Given the description of an element on the screen output the (x, y) to click on. 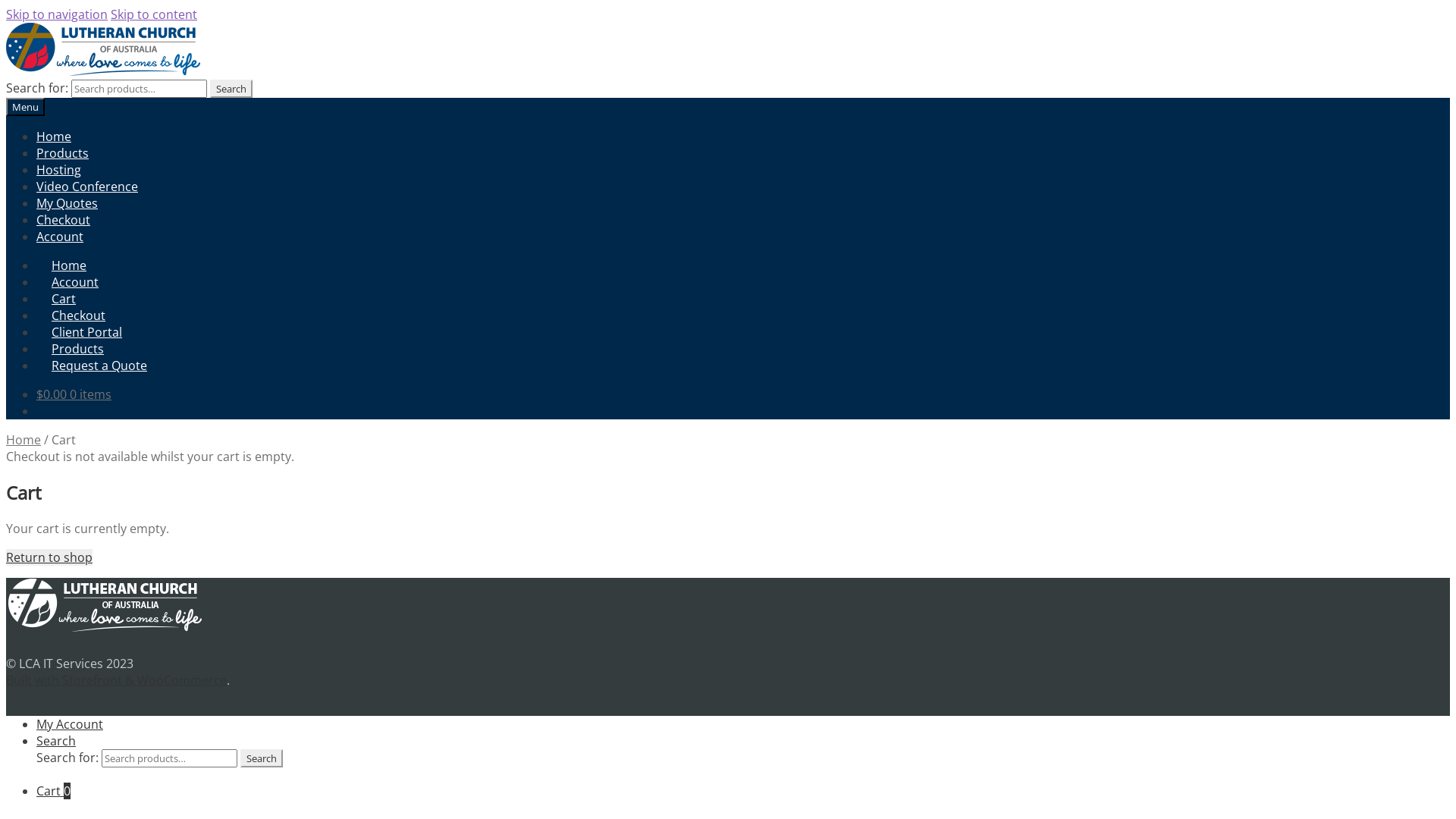
Account Element type: text (67, 281)
Request a Quote Element type: text (91, 365)
Return to shop Element type: text (49, 557)
Client Portal Element type: text (79, 331)
Home Element type: text (23, 439)
Built with Storefront & WooCommerce Element type: text (116, 679)
Cart Element type: text (55, 298)
Products Element type: text (62, 152)
Hosting Element type: text (58, 169)
Home Element type: text (61, 265)
My Account Element type: text (69, 723)
Home Element type: text (53, 136)
Search Element type: text (261, 758)
Account Element type: text (59, 236)
My Quotes Element type: text (66, 202)
Search Element type: text (231, 88)
Search Element type: text (55, 740)
Skip to navigation Element type: text (56, 14)
Products Element type: text (69, 348)
$0.00 0 items Element type: text (73, 393)
Skip to content Element type: text (153, 14)
Checkout Element type: text (70, 315)
Cart 0 Element type: text (53, 790)
Checkout Element type: text (63, 219)
Menu Element type: text (25, 106)
Video Conference Element type: text (87, 186)
